Given the description of an element on the screen output the (x, y) to click on. 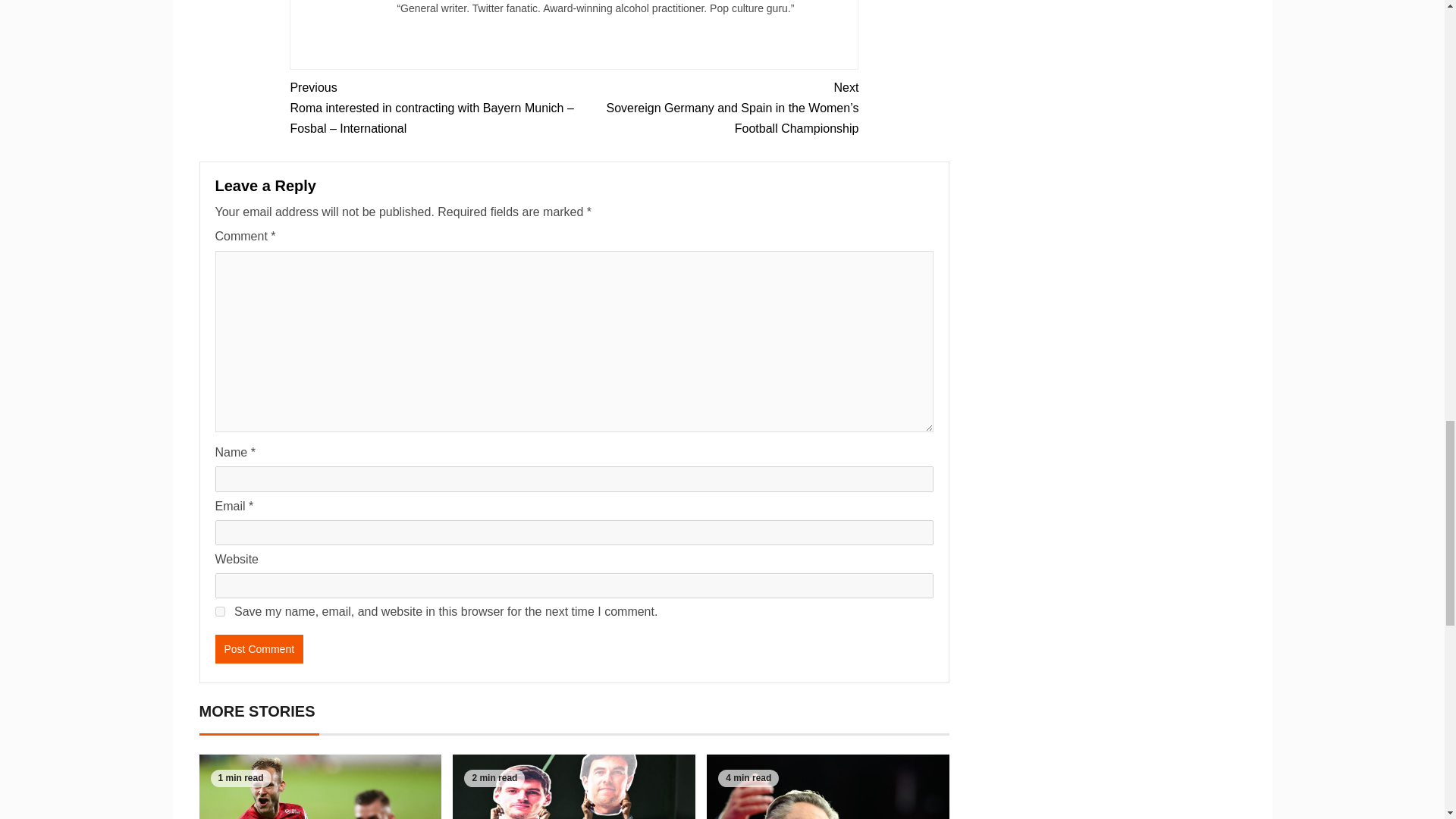
Post Comment (259, 648)
yes (220, 611)
